Given the description of an element on the screen output the (x, y) to click on. 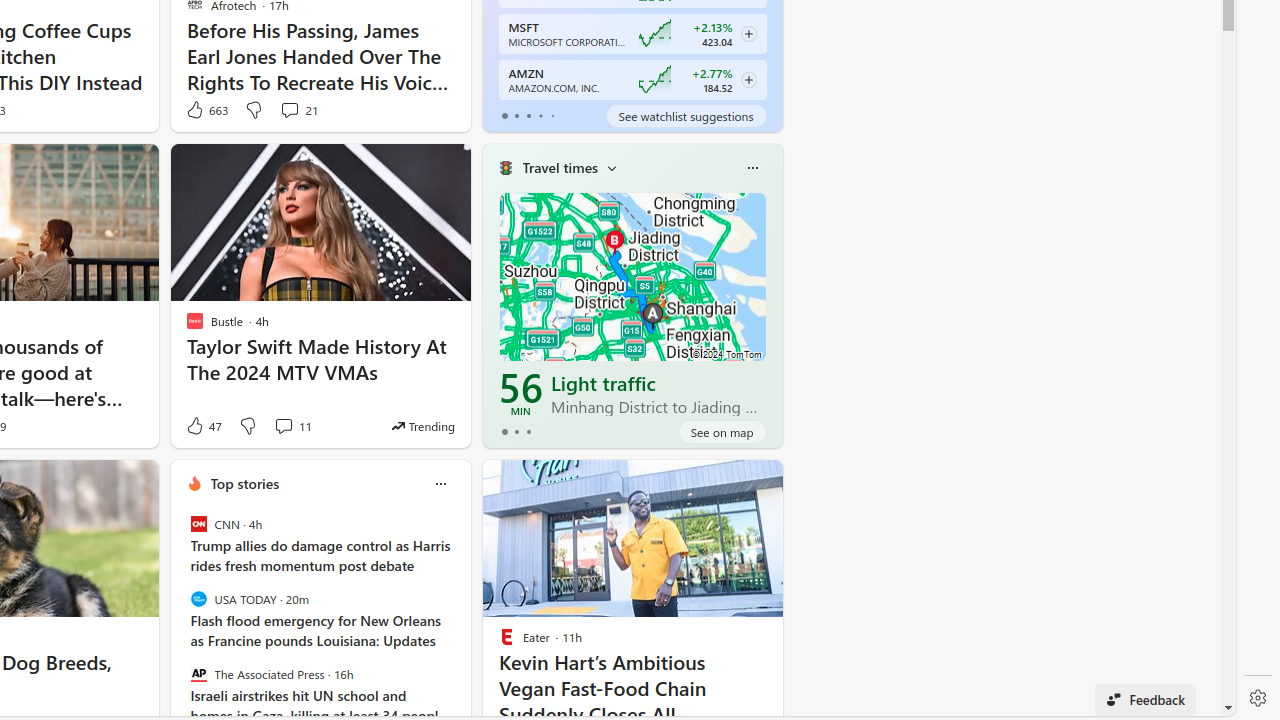
CNN CNN 4 hours Trump allies do damage control as Harris rides fresh momentum post debate Element type: link (320, 545)
next Element type: push-button (460, 612)
Consumer Health Privacy Element type: link (640, 703)
Hide this story Element type: push-button (722, 484)
See on map Element type: link (722, 432)
